Given the description of an element on the screen output the (x, y) to click on. 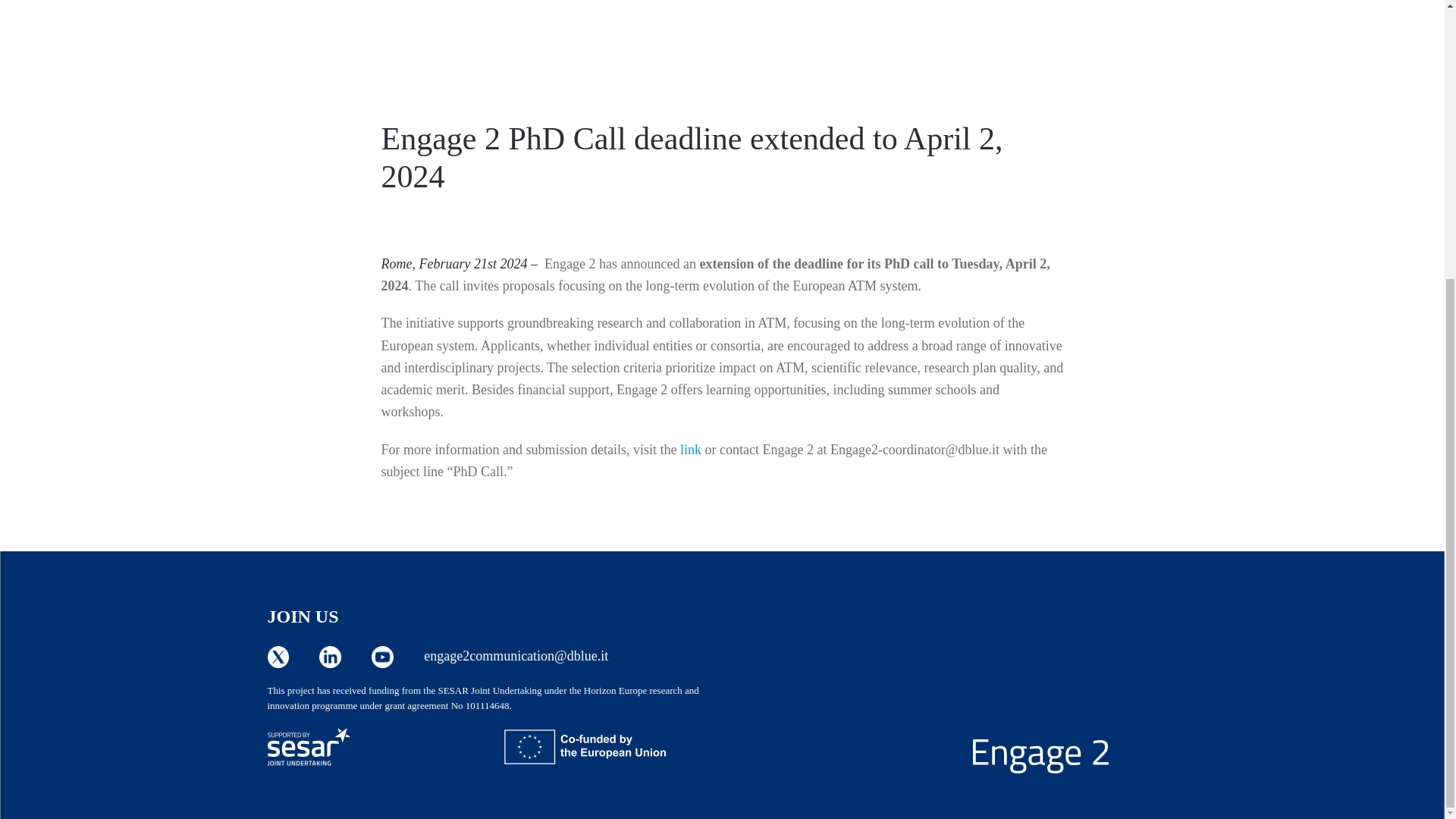
SERENA FABBRINI (496, 216)
Engage 2 PhD Call deadline extended to April 2, 2024 (691, 157)
link (690, 449)
